Given the description of an element on the screen output the (x, y) to click on. 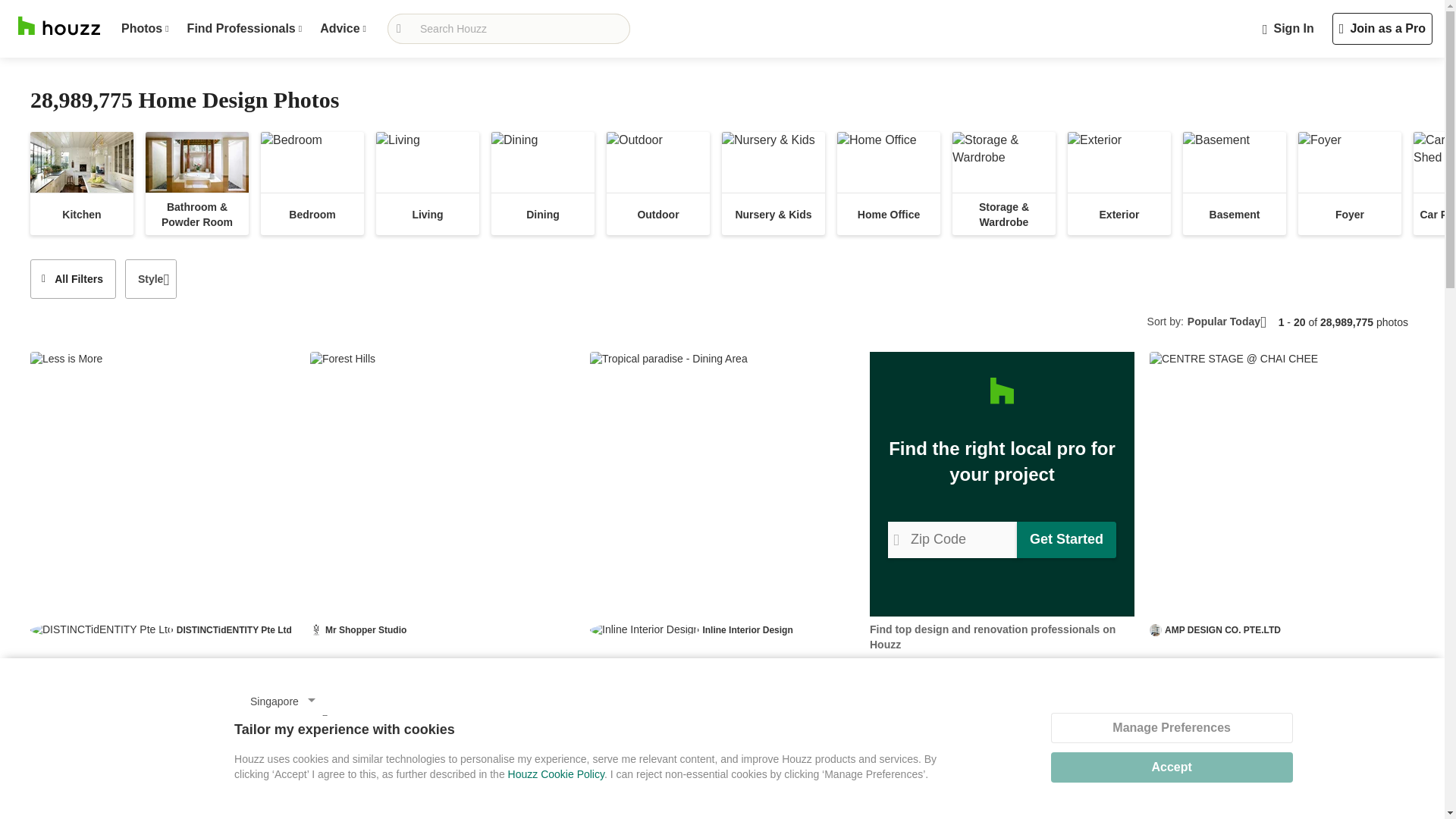
FIND PROFESSIONALS (244, 28)
Find Professionals (244, 28)
Photos (144, 28)
Advice (343, 28)
Photos (721, 285)
